Given the description of an element on the screen output the (x, y) to click on. 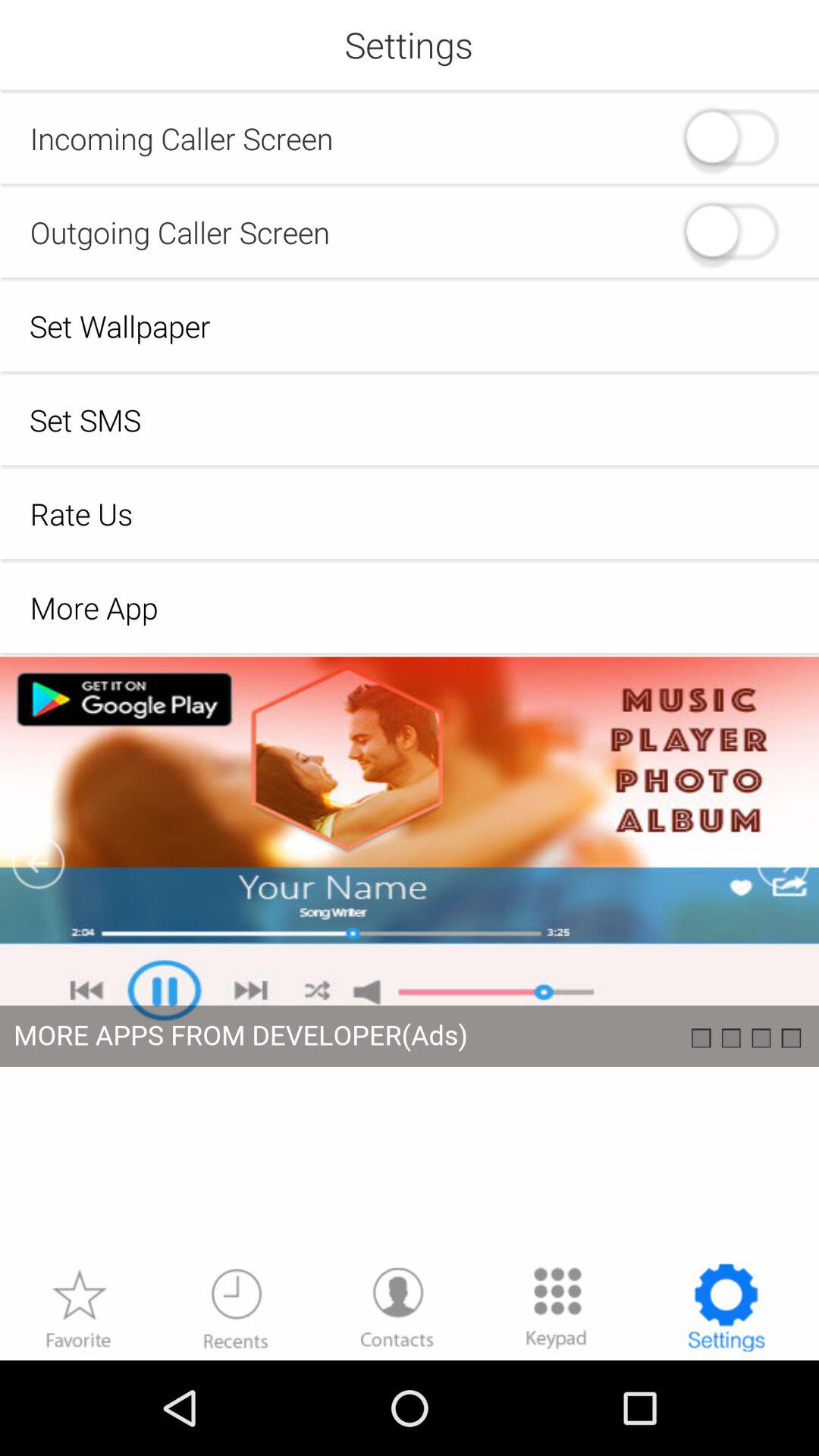
setting (409, 958)
